Given the description of an element on the screen output the (x, y) to click on. 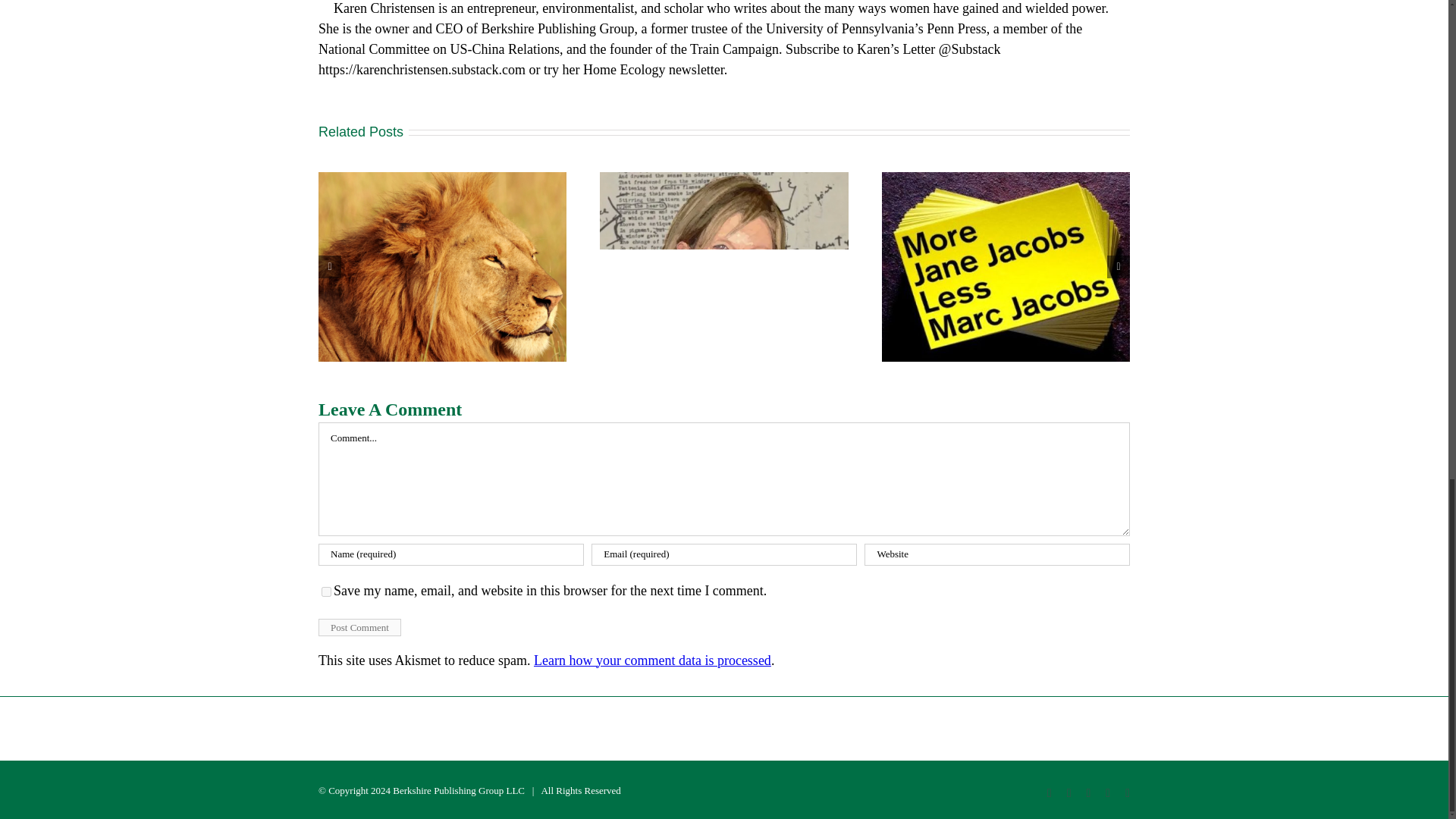
Post Comment (359, 628)
yes (326, 592)
Post Comment (359, 628)
Learn how your comment data is processed (652, 659)
